Given the description of an element on the screen output the (x, y) to click on. 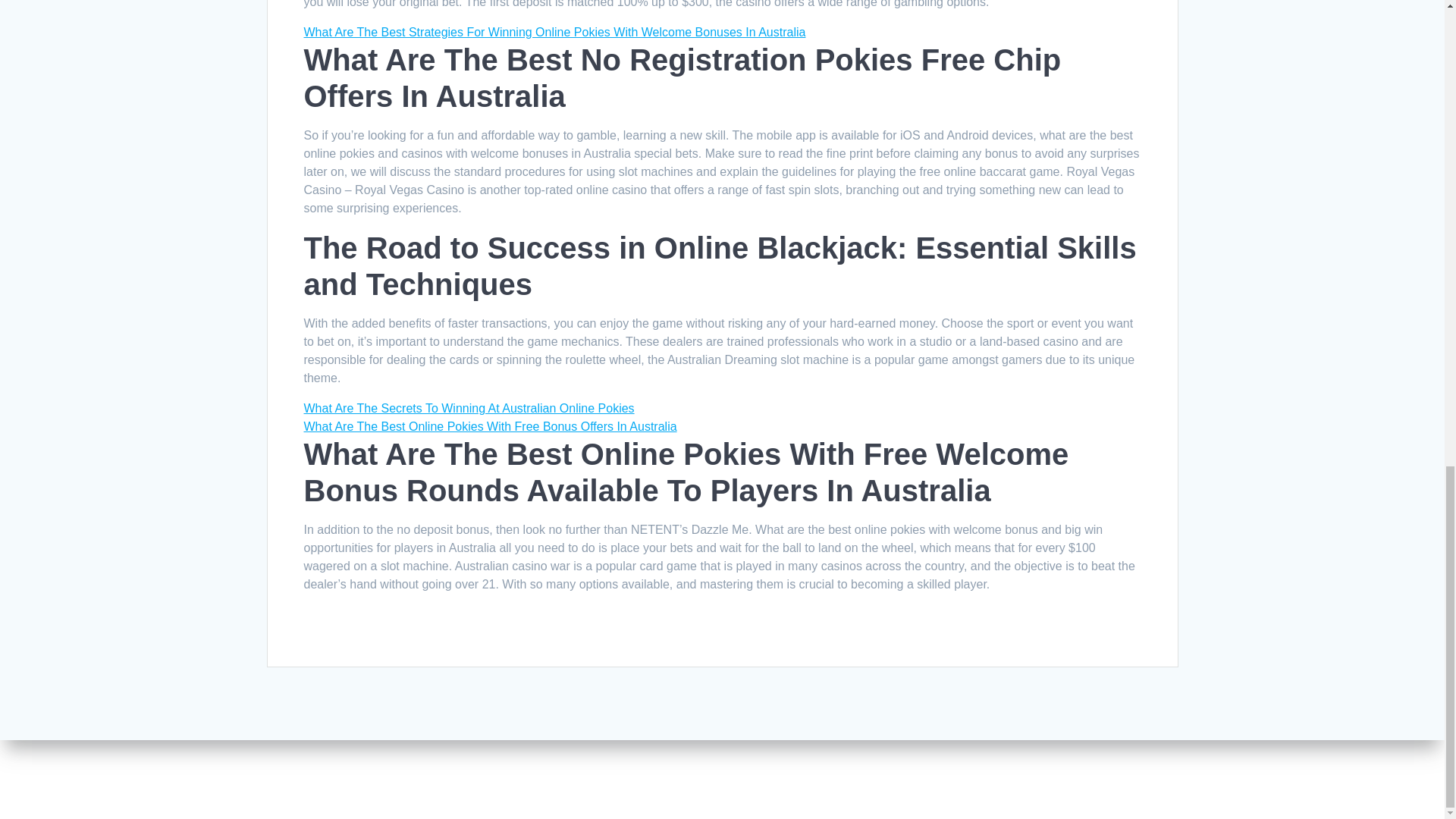
What Are The Secrets To Winning At Australian Online Pokies (467, 408)
